Given the description of an element on the screen output the (x, y) to click on. 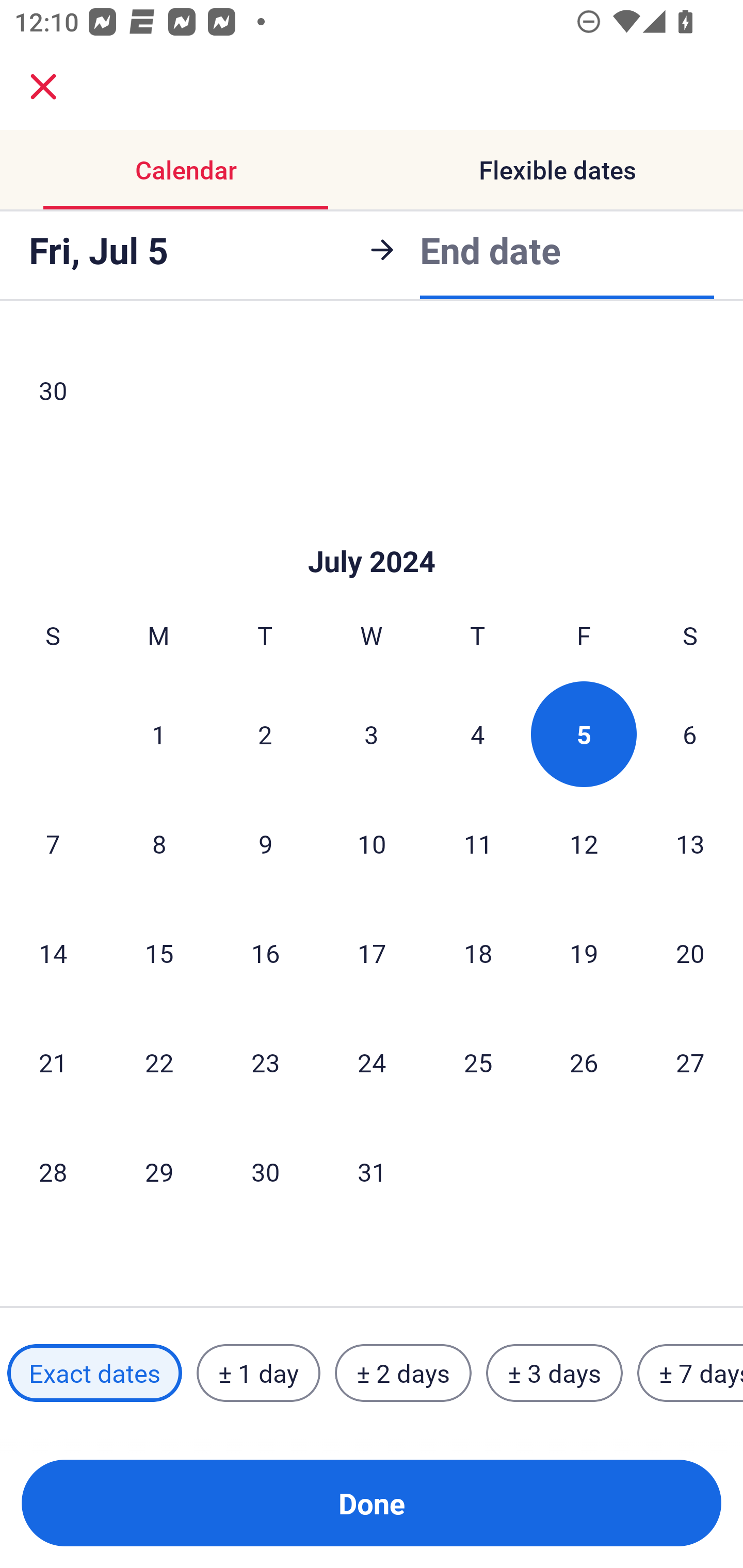
close. (43, 86)
Flexible dates (557, 170)
End date (489, 246)
30 Sunday, June 30, 2024 (53, 390)
Skip to Done (371, 530)
1 Monday, July 1, 2024 (158, 734)
2 Tuesday, July 2, 2024 (264, 734)
3 Wednesday, July 3, 2024 (371, 734)
4 Thursday, July 4, 2024 (477, 734)
6 Saturday, July 6, 2024 (689, 734)
7 Sunday, July 7, 2024 (53, 843)
8 Monday, July 8, 2024 (159, 843)
9 Tuesday, July 9, 2024 (265, 843)
10 Wednesday, July 10, 2024 (371, 843)
11 Thursday, July 11, 2024 (477, 843)
12 Friday, July 12, 2024 (584, 843)
13 Saturday, July 13, 2024 (690, 843)
14 Sunday, July 14, 2024 (53, 952)
15 Monday, July 15, 2024 (159, 952)
16 Tuesday, July 16, 2024 (265, 952)
17 Wednesday, July 17, 2024 (371, 952)
18 Thursday, July 18, 2024 (477, 952)
19 Friday, July 19, 2024 (584, 952)
20 Saturday, July 20, 2024 (690, 952)
21 Sunday, July 21, 2024 (53, 1061)
22 Monday, July 22, 2024 (159, 1061)
23 Tuesday, July 23, 2024 (265, 1061)
24 Wednesday, July 24, 2024 (371, 1061)
25 Thursday, July 25, 2024 (477, 1061)
26 Friday, July 26, 2024 (584, 1061)
27 Saturday, July 27, 2024 (690, 1061)
28 Sunday, July 28, 2024 (53, 1170)
29 Monday, July 29, 2024 (159, 1170)
30 Tuesday, July 30, 2024 (265, 1170)
31 Wednesday, July 31, 2024 (371, 1170)
Exact dates (94, 1372)
± 1 day (258, 1372)
± 2 days (403, 1372)
± 3 days (553, 1372)
± 7 days (690, 1372)
Done (371, 1502)
